Given the description of an element on the screen output the (x, y) to click on. 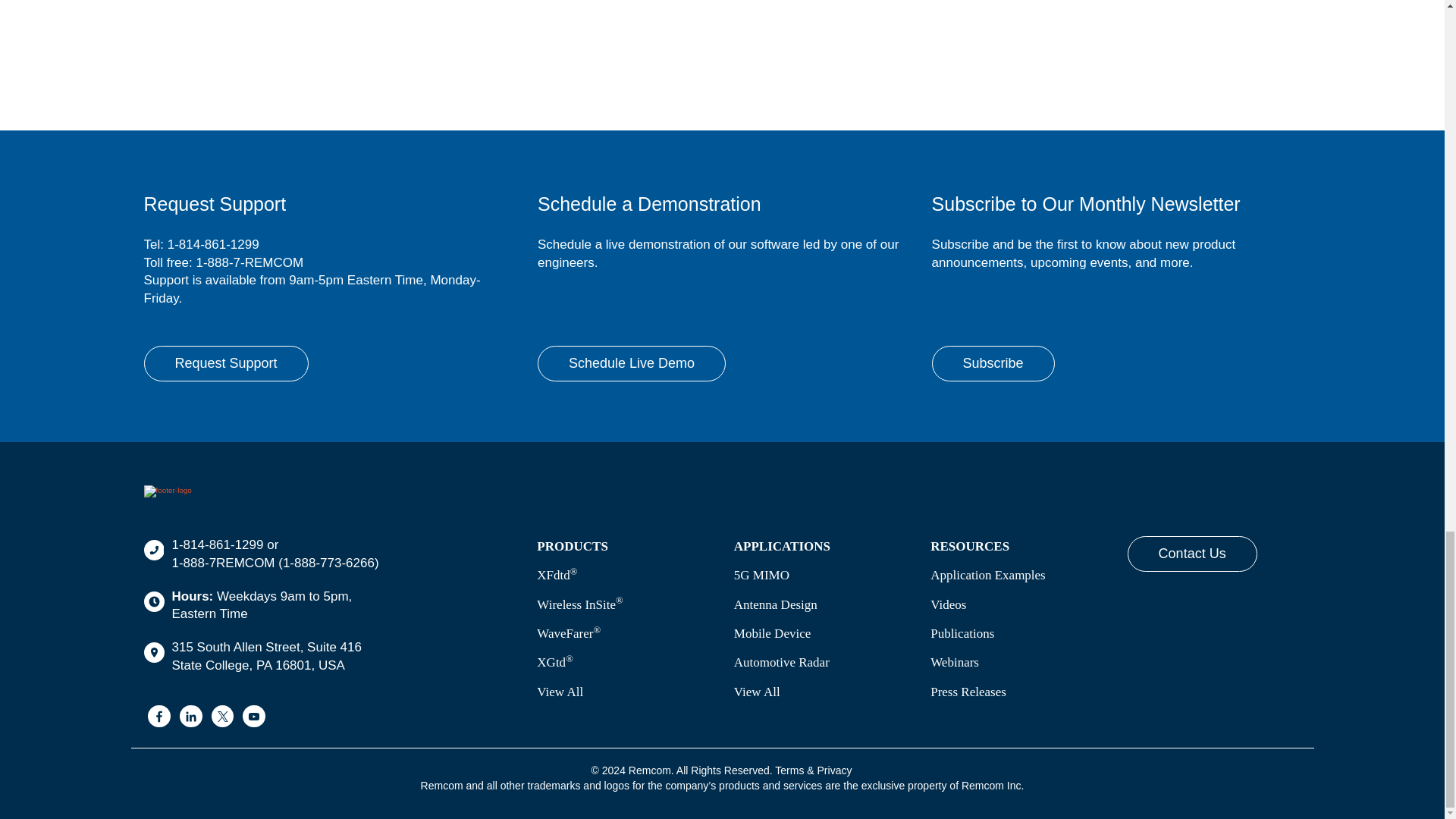
footer-logo (168, 491)
